Given the description of an element on the screen output the (x, y) to click on. 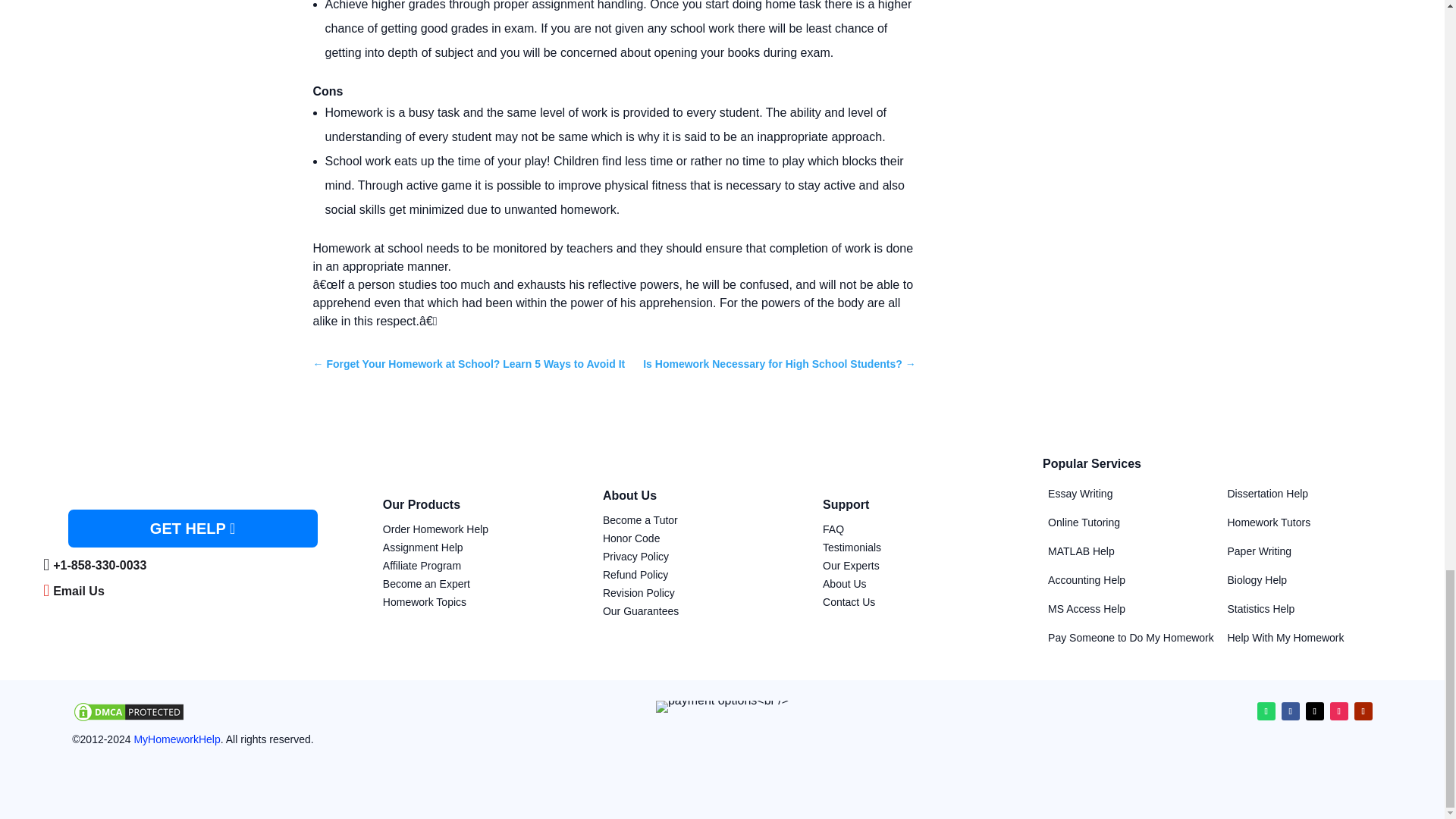
Follow on X (1314, 710)
Follow on Facebook (1290, 710)
DMCA.com Protection Status (128, 718)
FAQ (833, 529)
Follow on Instagram (1339, 710)
Follow on Youtube (1363, 710)
Follow on WhatsApp (1266, 710)
